Given the description of an element on the screen output the (x, y) to click on. 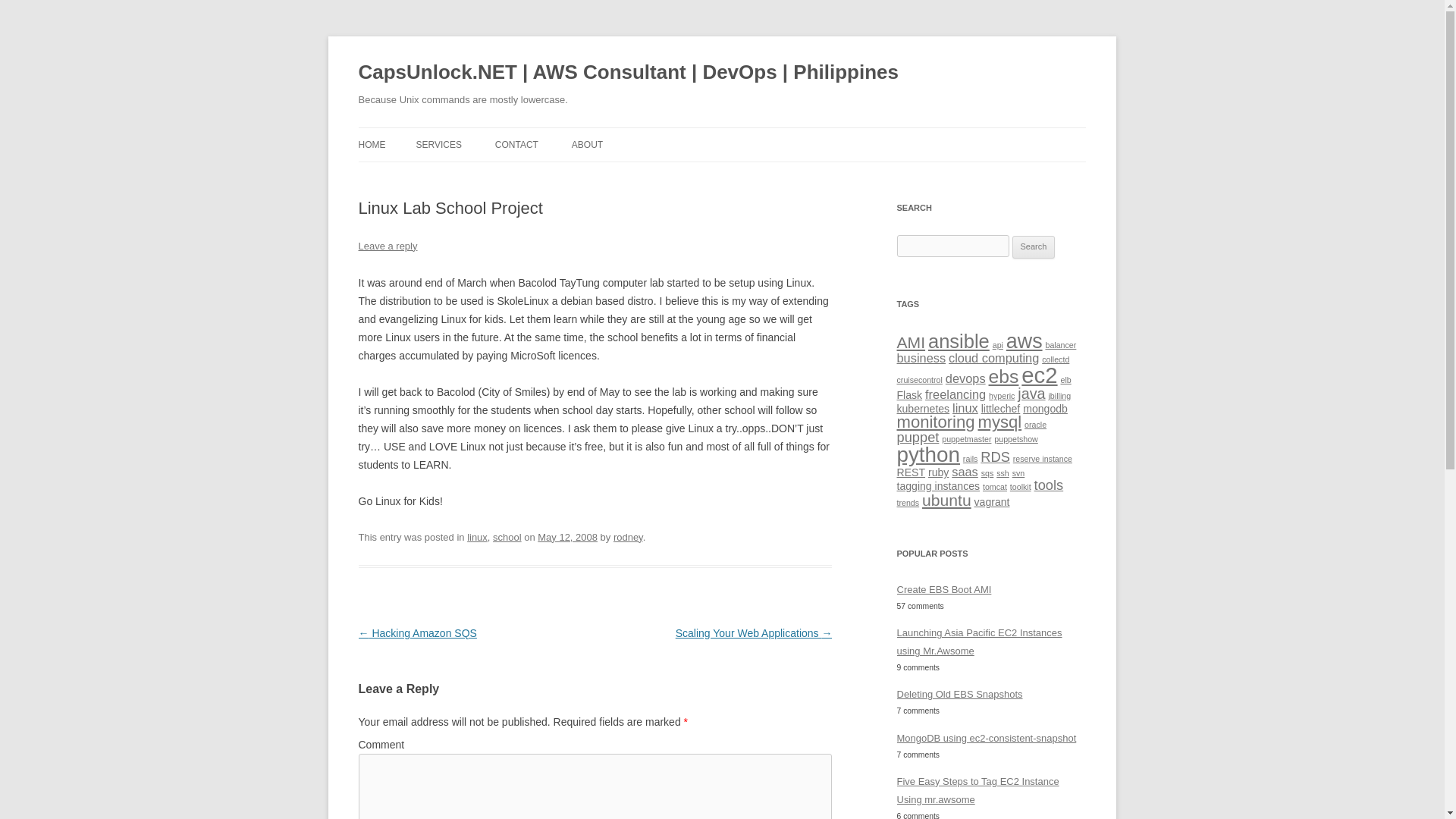
littlechef (1000, 408)
java (1031, 393)
ebs (1003, 376)
Flask (908, 395)
ec2 (1039, 374)
ansible (959, 341)
9:01 pm (566, 536)
hyperic (1001, 395)
linux (477, 536)
ABOUT (587, 144)
collectd (1055, 358)
Leave a reply (387, 245)
SERVICES (437, 144)
cruisecontrol (919, 379)
cloud computing (994, 357)
